Given the description of an element on the screen output the (x, y) to click on. 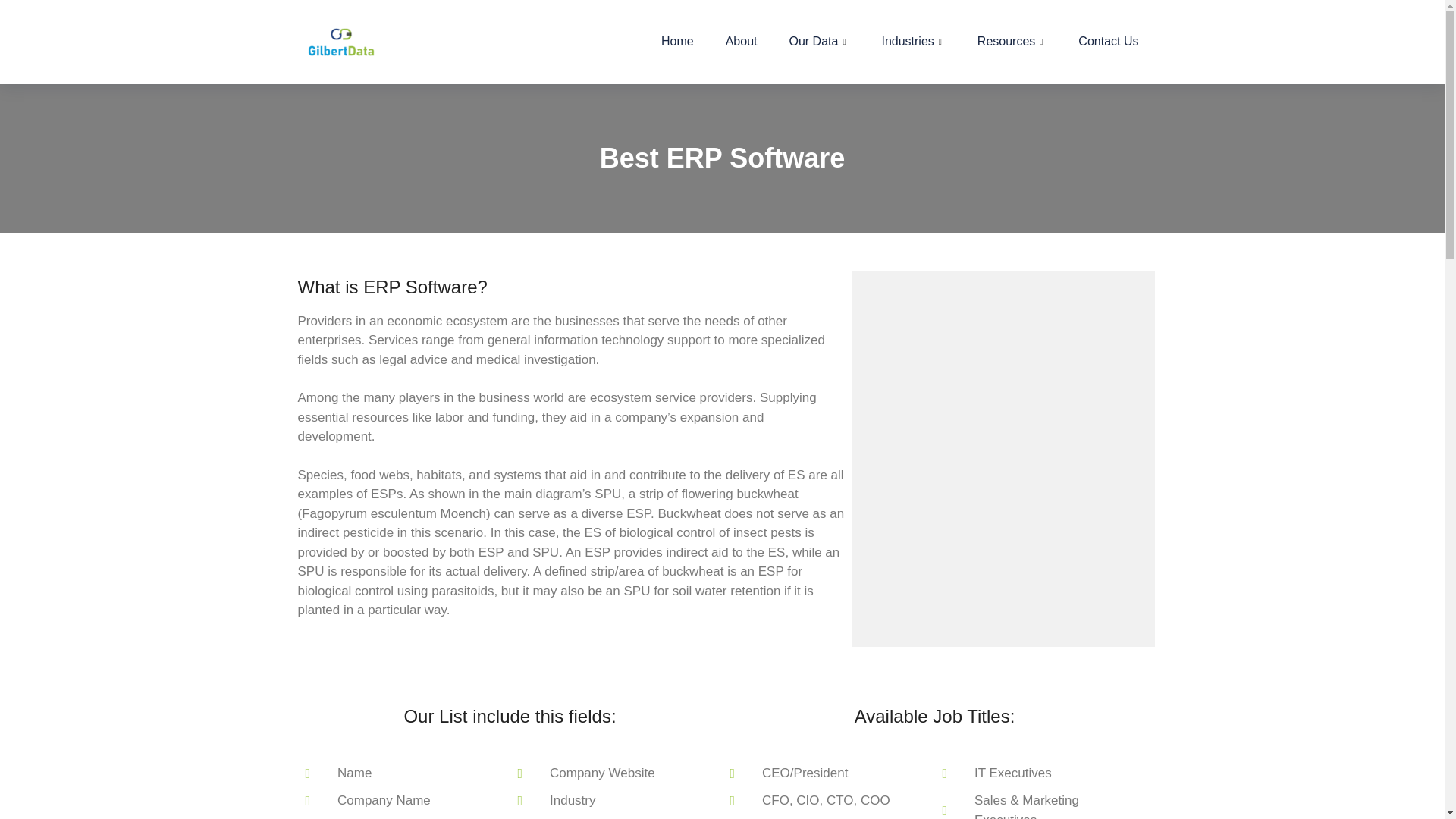
Our Data (818, 41)
Home (677, 41)
About (741, 41)
Industries (912, 41)
